Given the description of an element on the screen output the (x, y) to click on. 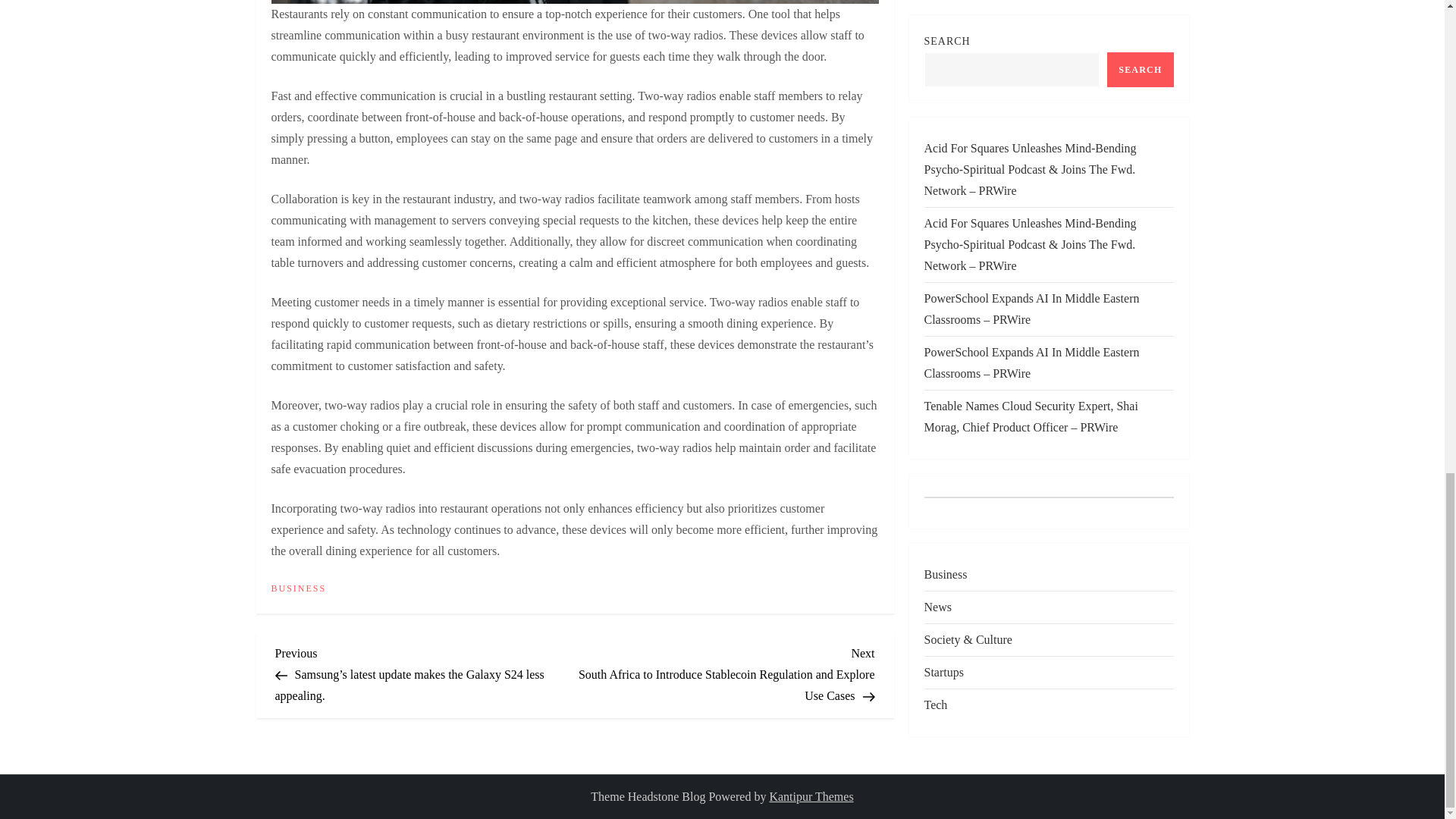
BUSINESS (298, 589)
Kantipur Themes (810, 796)
